Given the description of an element on the screen output the (x, y) to click on. 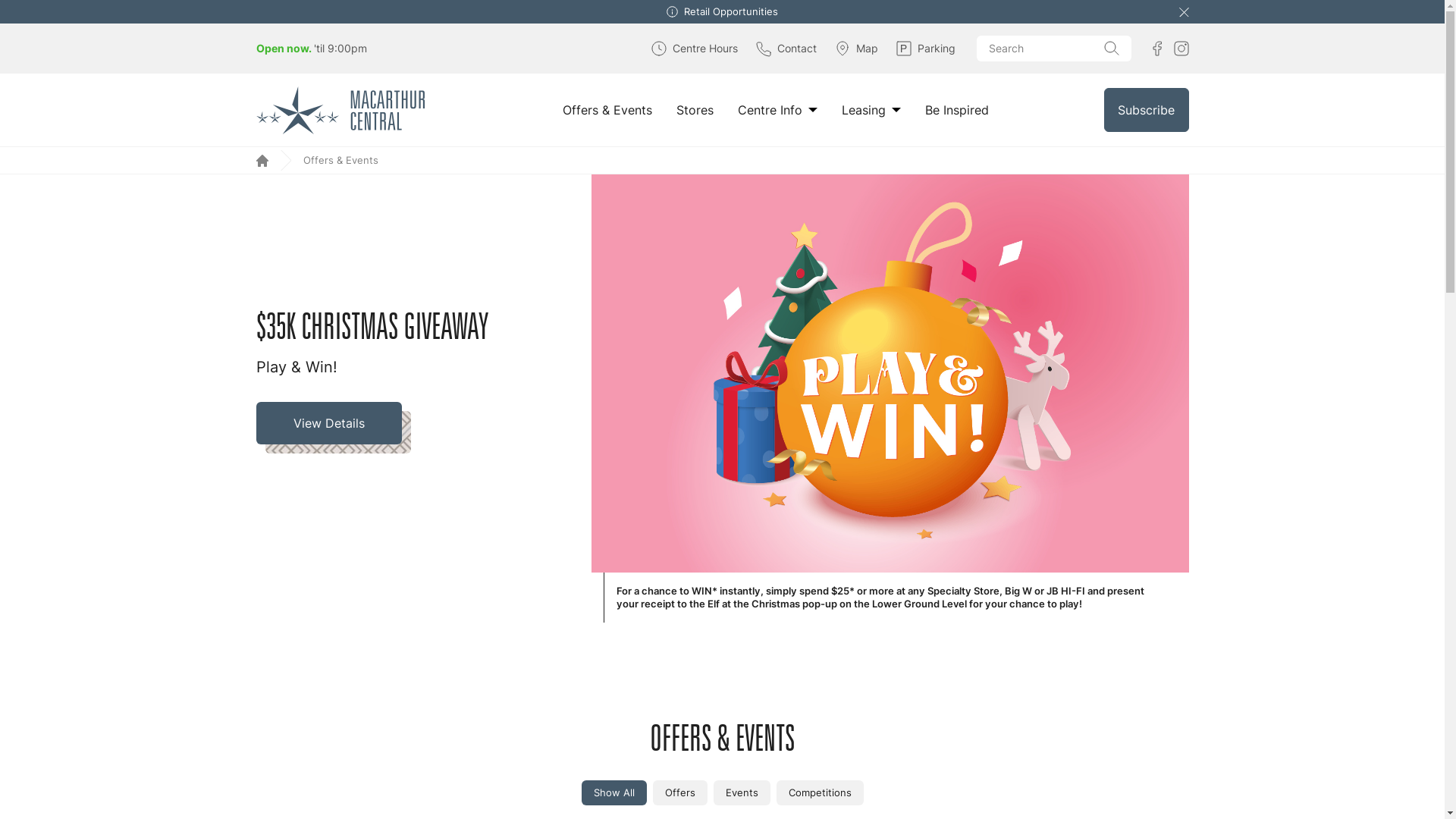
Centre Info Element type: text (776, 109)
Map Element type: text (855, 48)
Leasing Element type: text (870, 109)
Competitions Element type: text (819, 792)
Offers Element type: text (679, 792)
Subscribe Element type: text (1146, 109)
Open now. 'til 9:00pm Element type: text (311, 47)
Offers & Events Element type: text (607, 109)
Contact Element type: text (785, 48)
View Details Element type: text (333, 427)
Show All Element type: text (613, 792)
Offers & Events Element type: text (342, 159)
Events Element type: text (740, 792)
Retail Opportunities Element type: text (731, 11)
Be Inspired Element type: text (956, 109)
Stores Element type: text (694, 109)
Centre Hours Element type: text (693, 48)
Home Element type: text (262, 160)
Parking Element type: text (925, 48)
